Given the description of an element on the screen output the (x, y) to click on. 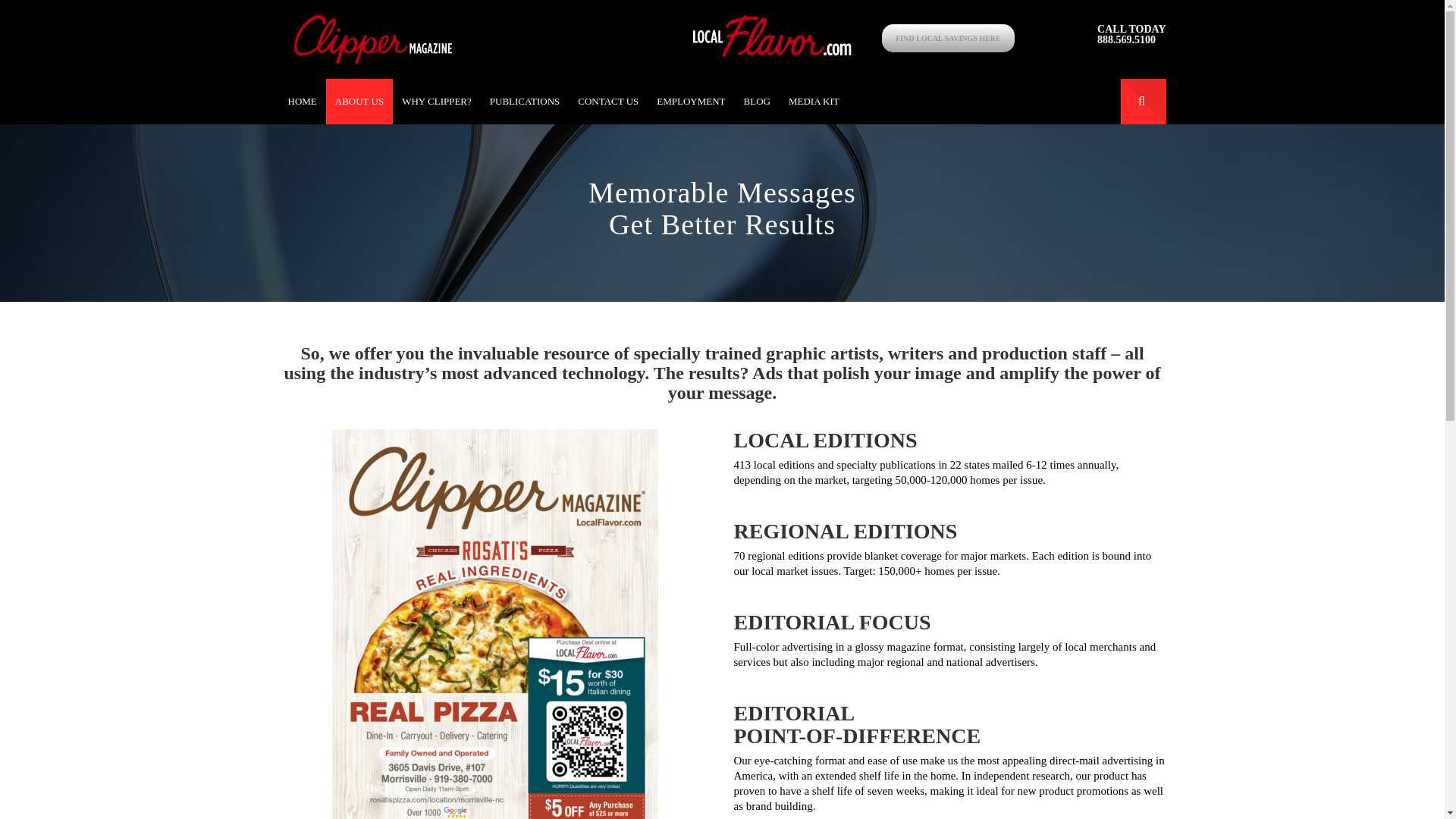
CONTACT US (608, 101)
MEDIA KIT (813, 101)
888.569.5100 (1126, 39)
PUBLICATIONS (524, 101)
ABOUT US (359, 101)
WHY CLIPPER? (436, 101)
EMPLOYMENT (690, 101)
FIND LOCAL SAVINGS HERE (948, 38)
FIND LOCAL SAVINGS HERE (948, 32)
BLOG (756, 101)
HOME (302, 101)
